Given the description of an element on the screen output the (x, y) to click on. 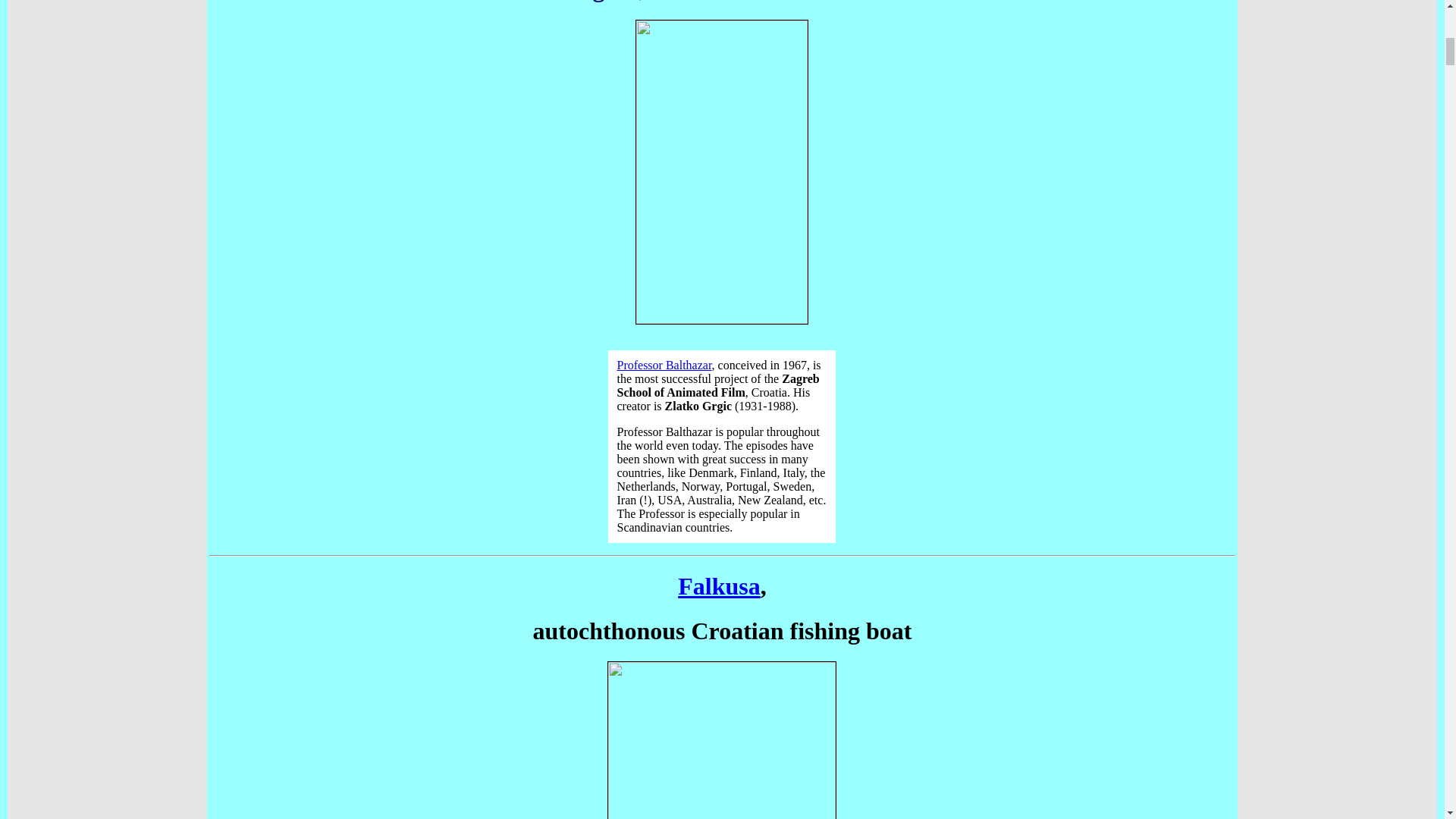
Falkusa (719, 585)
Professor Balthazar (663, 364)
